Given the description of an element on the screen output the (x, y) to click on. 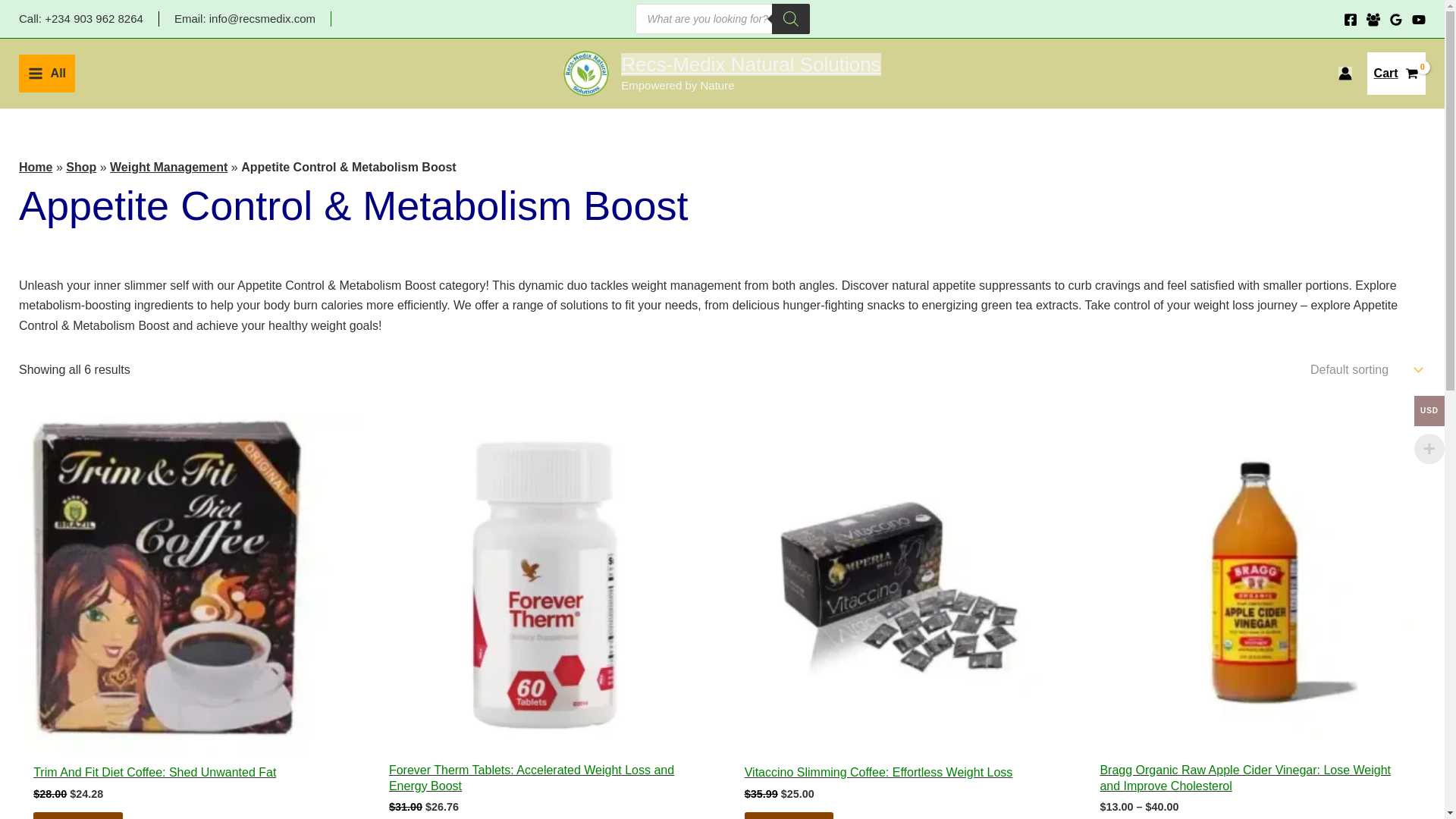
Cart (1396, 73)
Recs-Medix Natural Solutions (46, 73)
